Given the description of an element on the screen output the (x, y) to click on. 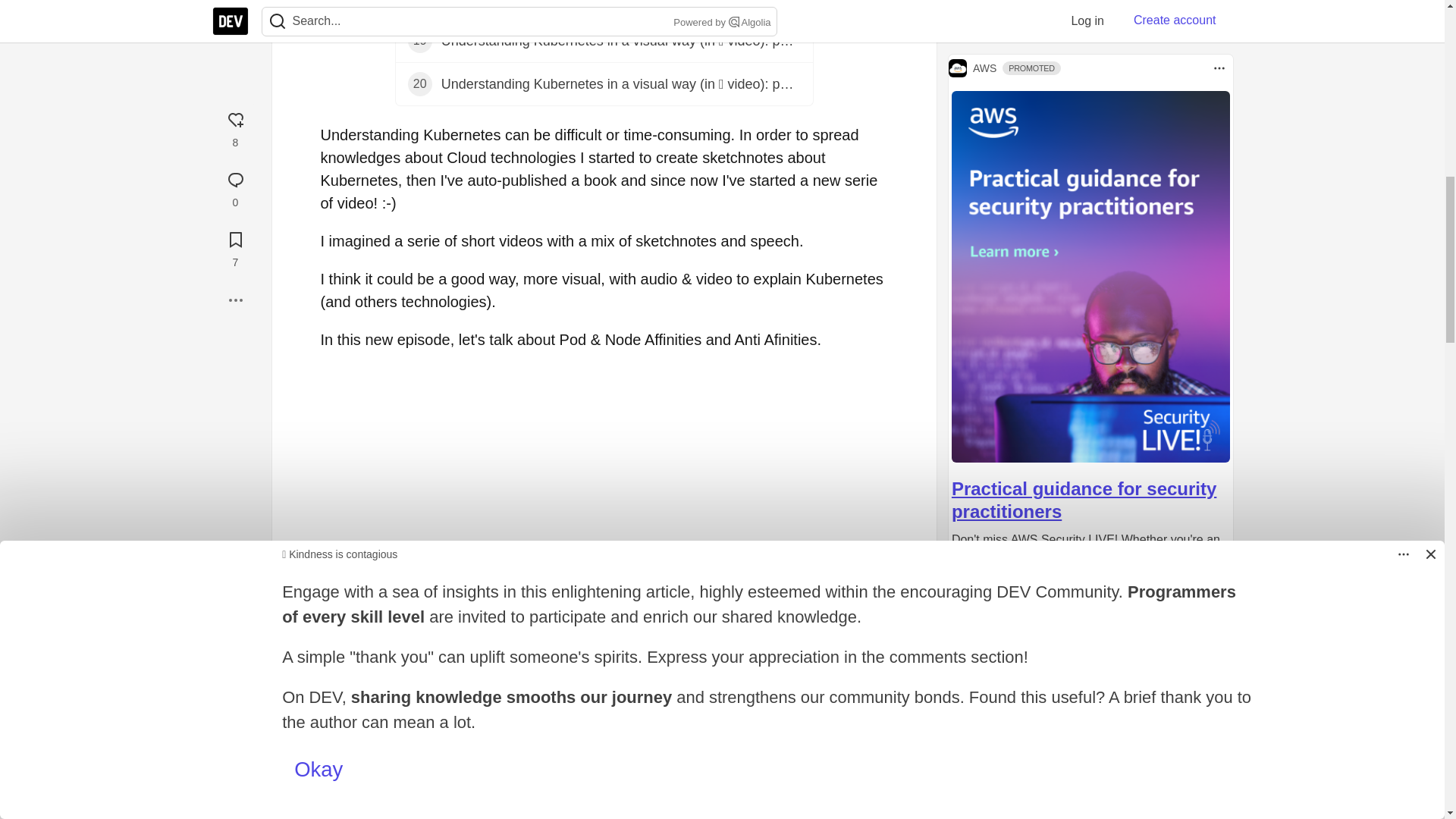
View more (604, 9)
